Given the description of an element on the screen output the (x, y) to click on. 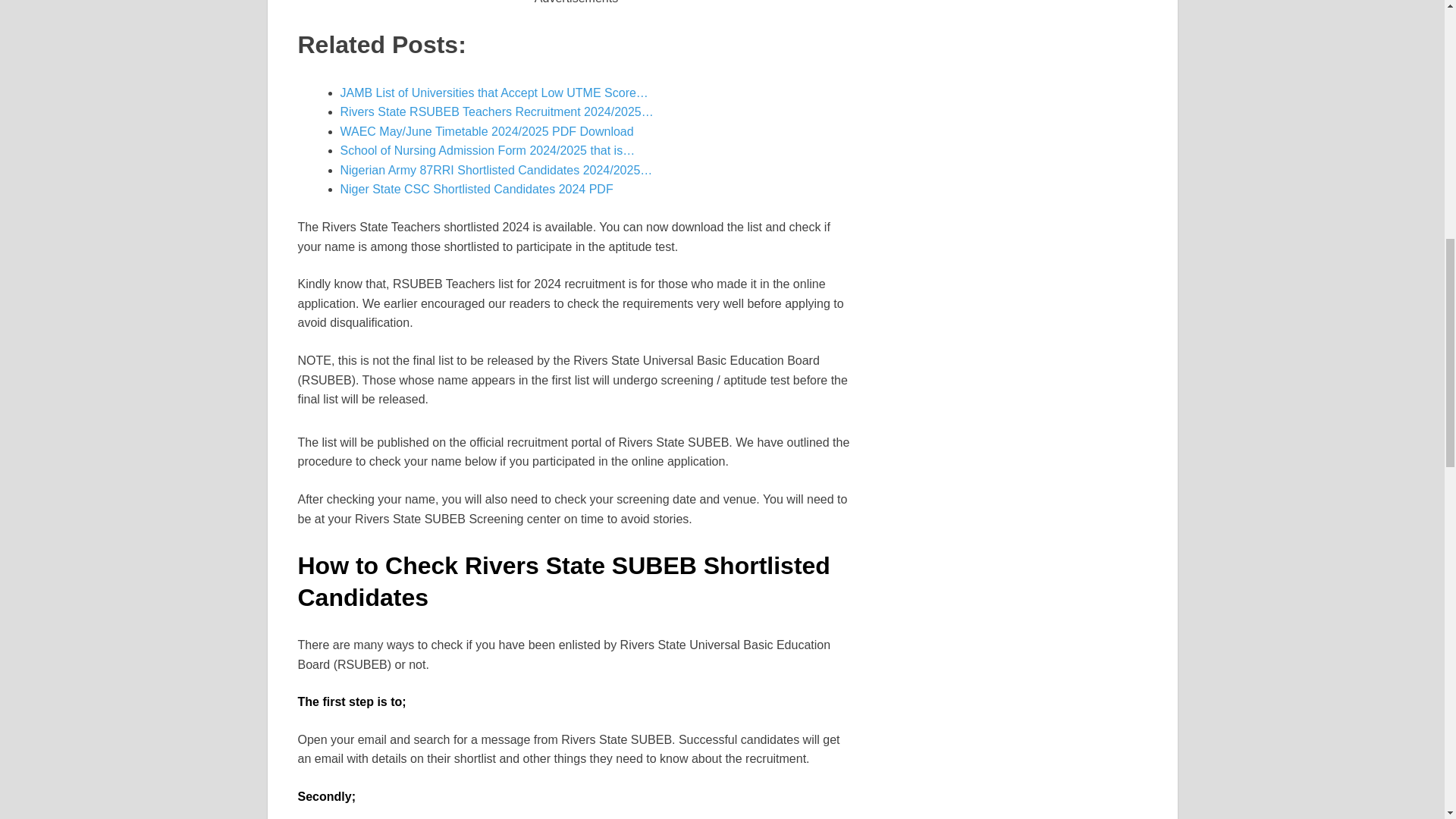
Niger State CSC Shortlisted Candidates 2024 PDF (475, 188)
